Given the description of an element on the screen output the (x, y) to click on. 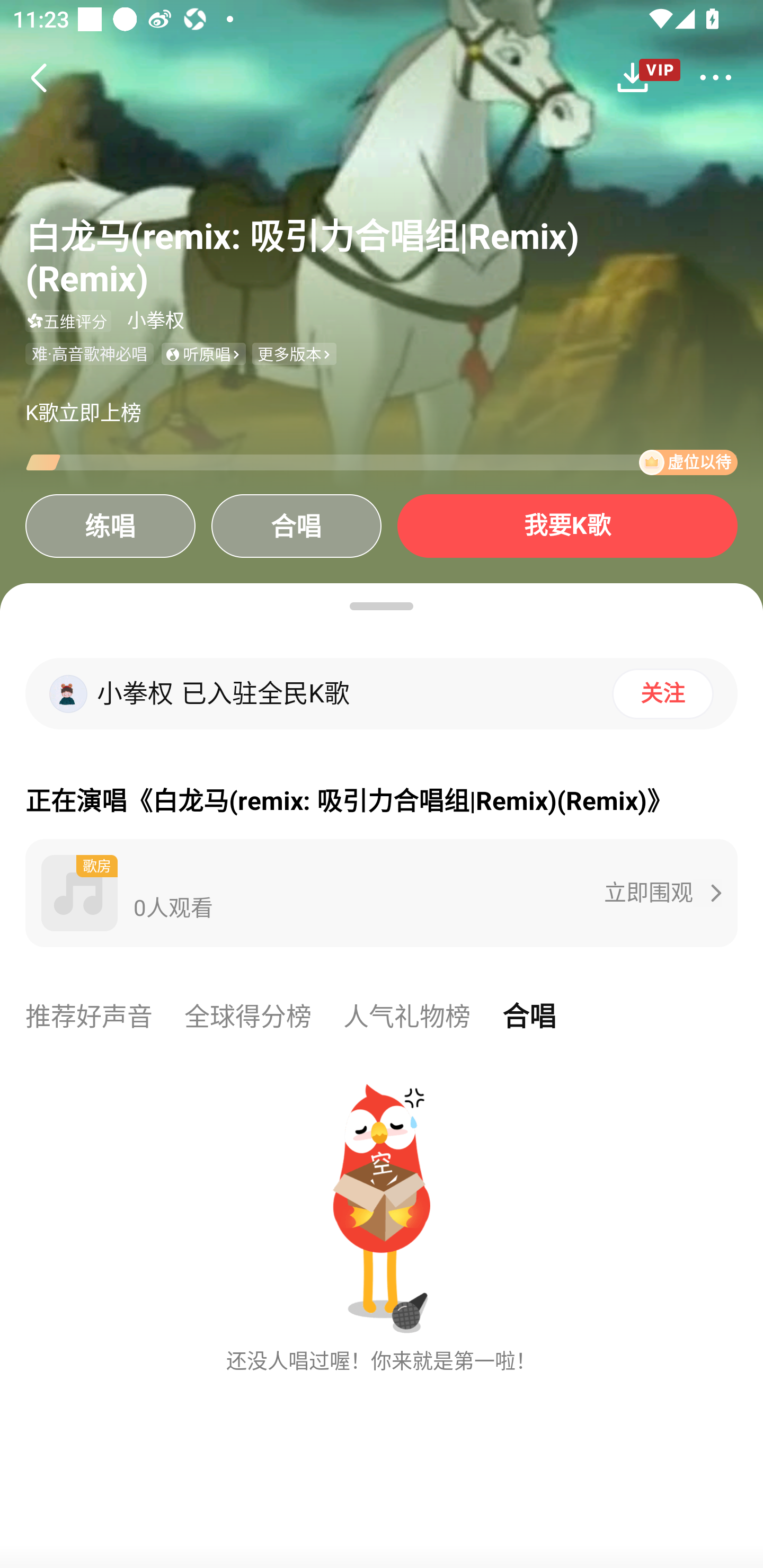
返回 (38, 77)
更多 (715, 77)
vip下载 (646, 78)
小拳权 (155, 320)
难·高音歌神必唱 (89, 354)
听原唱 (203, 354)
练唱 (110, 525)
合唱 (296, 525)
我要K歌 (567, 525)
头像 小拳权 已入驻全民K歌 关注 (381, 693)
关注 (662, 693)
歌房 0人观看 立即围观 (381, 892)
推荐好声音 (88, 1016)
全球得分榜 (247, 1016)
人气礼物榜 (406, 1016)
合唱 (529, 1016)
